Given the description of an element on the screen output the (x, y) to click on. 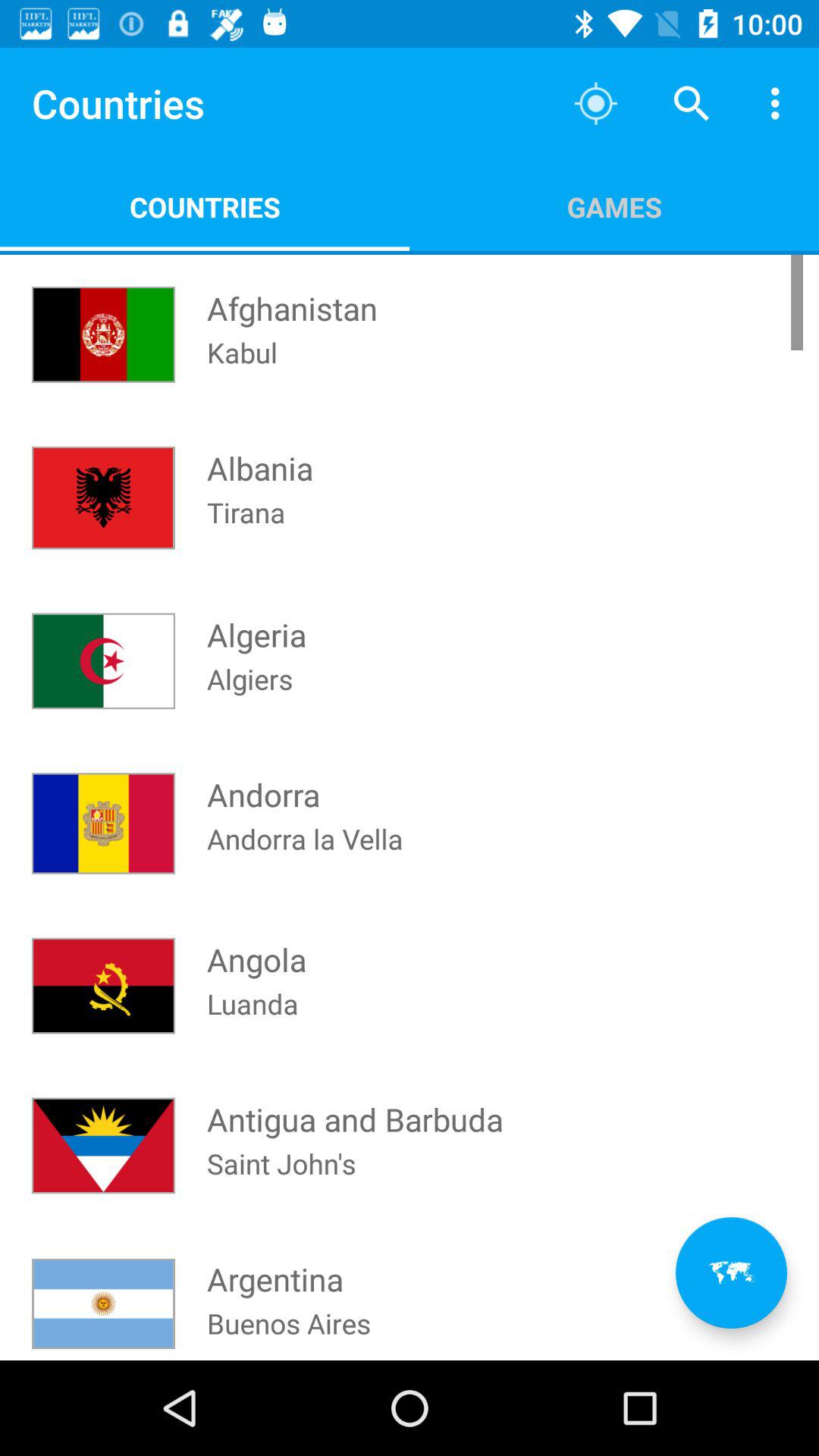
tap icon below the kabul icon (260, 453)
